Given the description of an element on the screen output the (x, y) to click on. 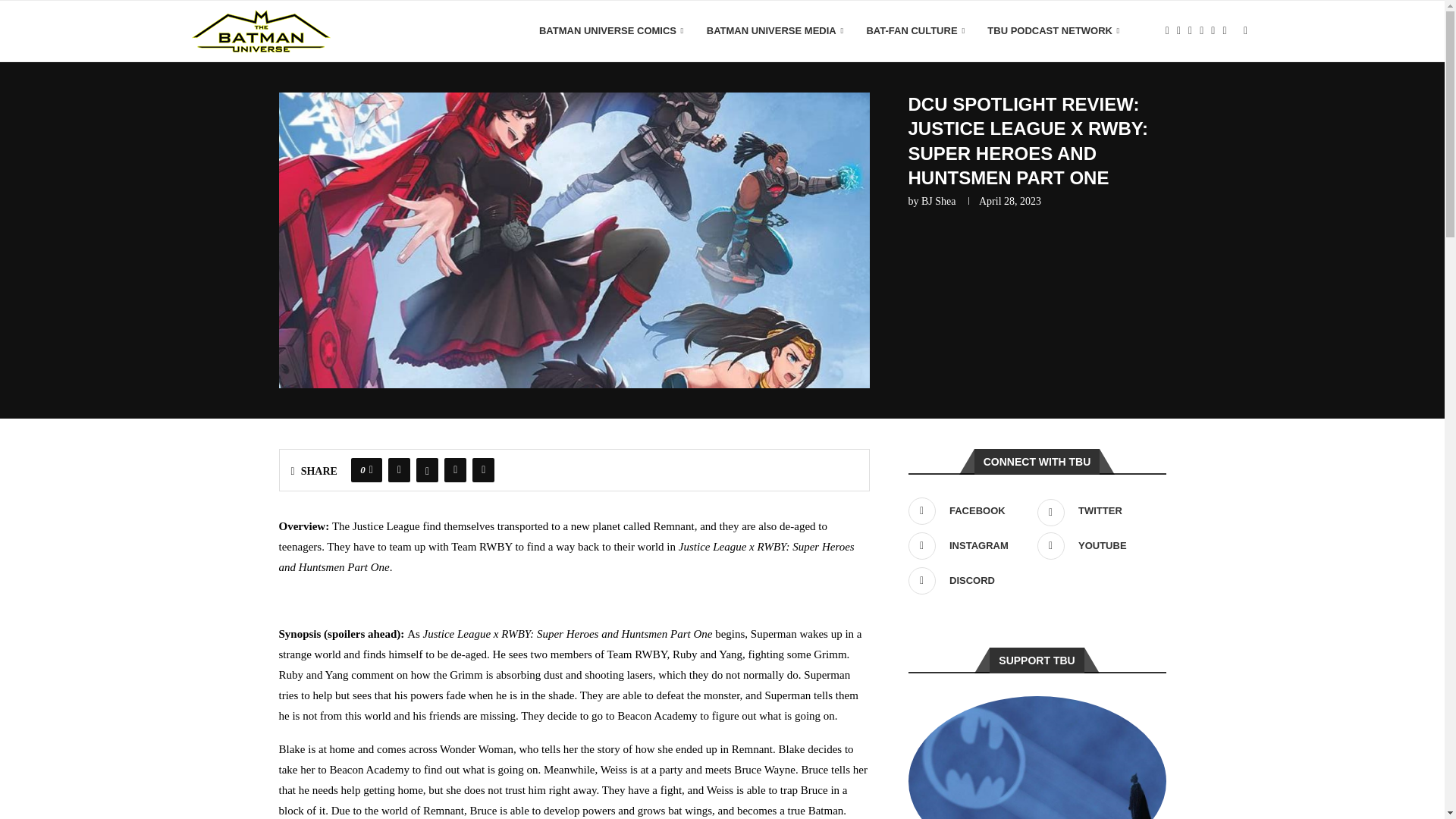
BAT-FAN CULTURE (914, 30)
BATMAN UNIVERSE MEDIA (775, 30)
BATMAN UNIVERSE COMICS (611, 30)
TBU PODCAST NETWORK (1053, 30)
